Given the description of an element on the screen output the (x, y) to click on. 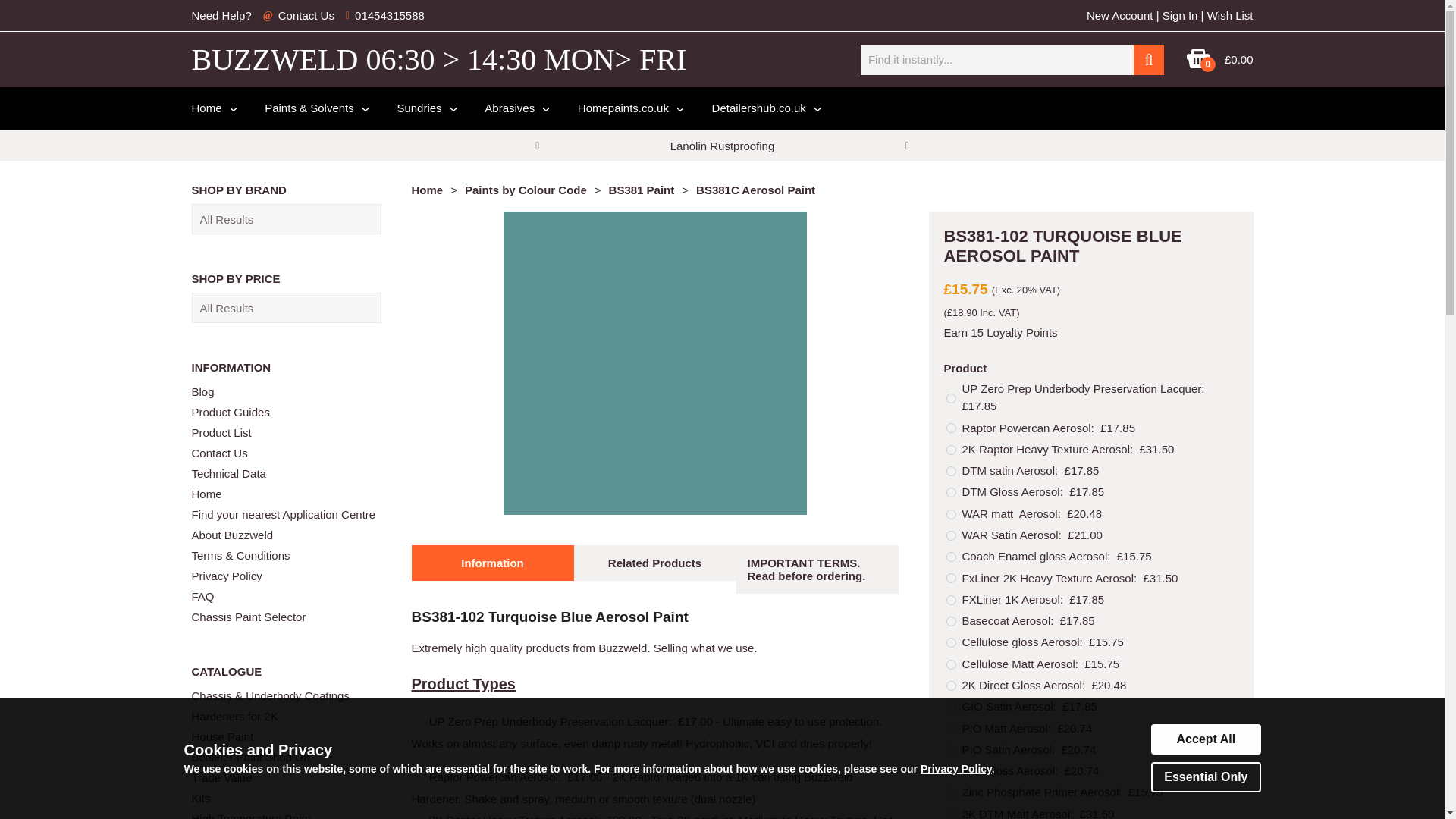
Go (1148, 59)
Contact Us (306, 15)
New Account (1119, 15)
01454315588 (390, 15)
Wish List (1230, 15)
Home (212, 108)
Home Decorating (629, 108)
0 (1197, 65)
Sign In (1179, 15)
